Given the description of an element on the screen output the (x, y) to click on. 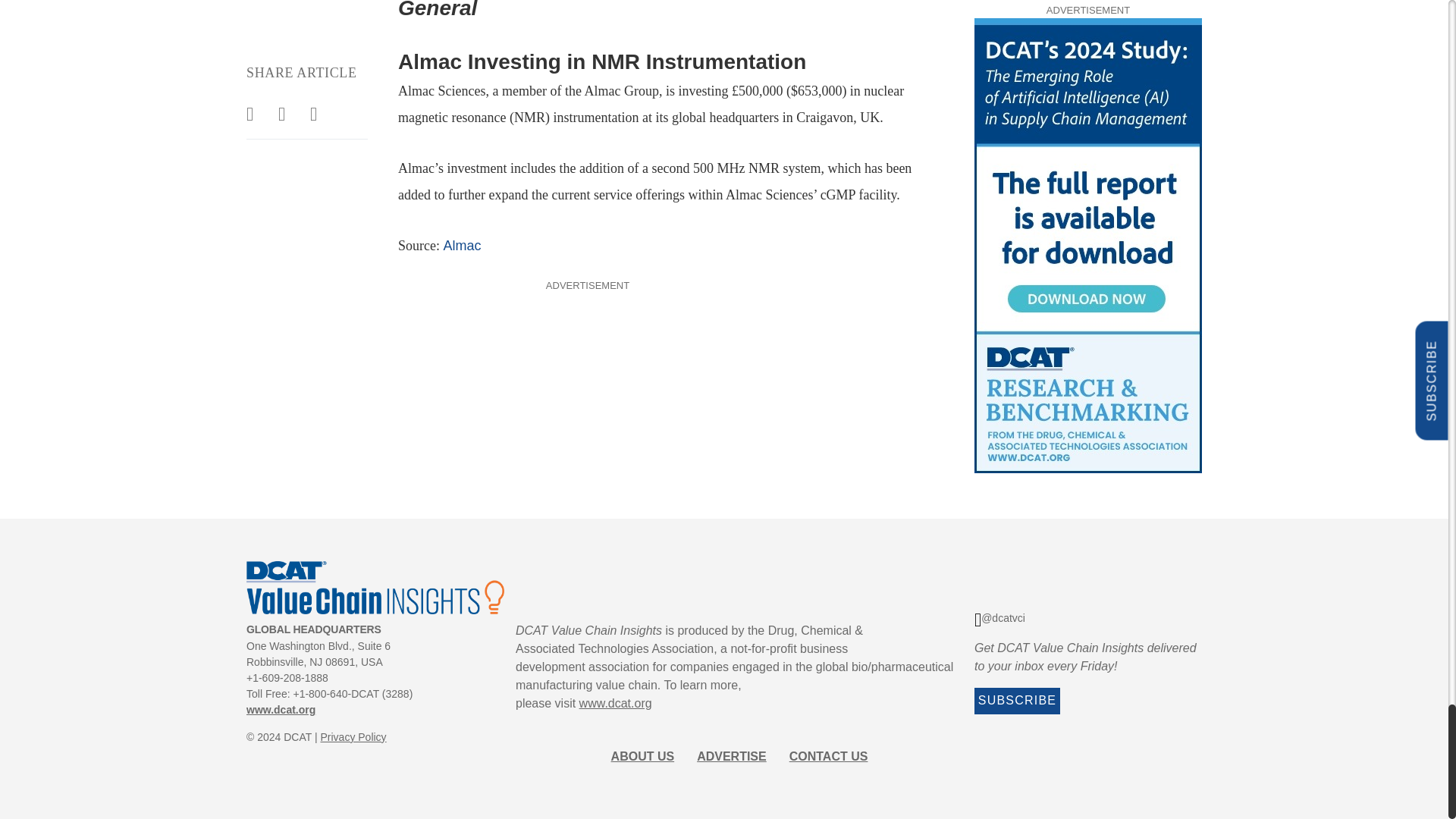
Almac (461, 245)
